Given the description of an element on the screen output the (x, y) to click on. 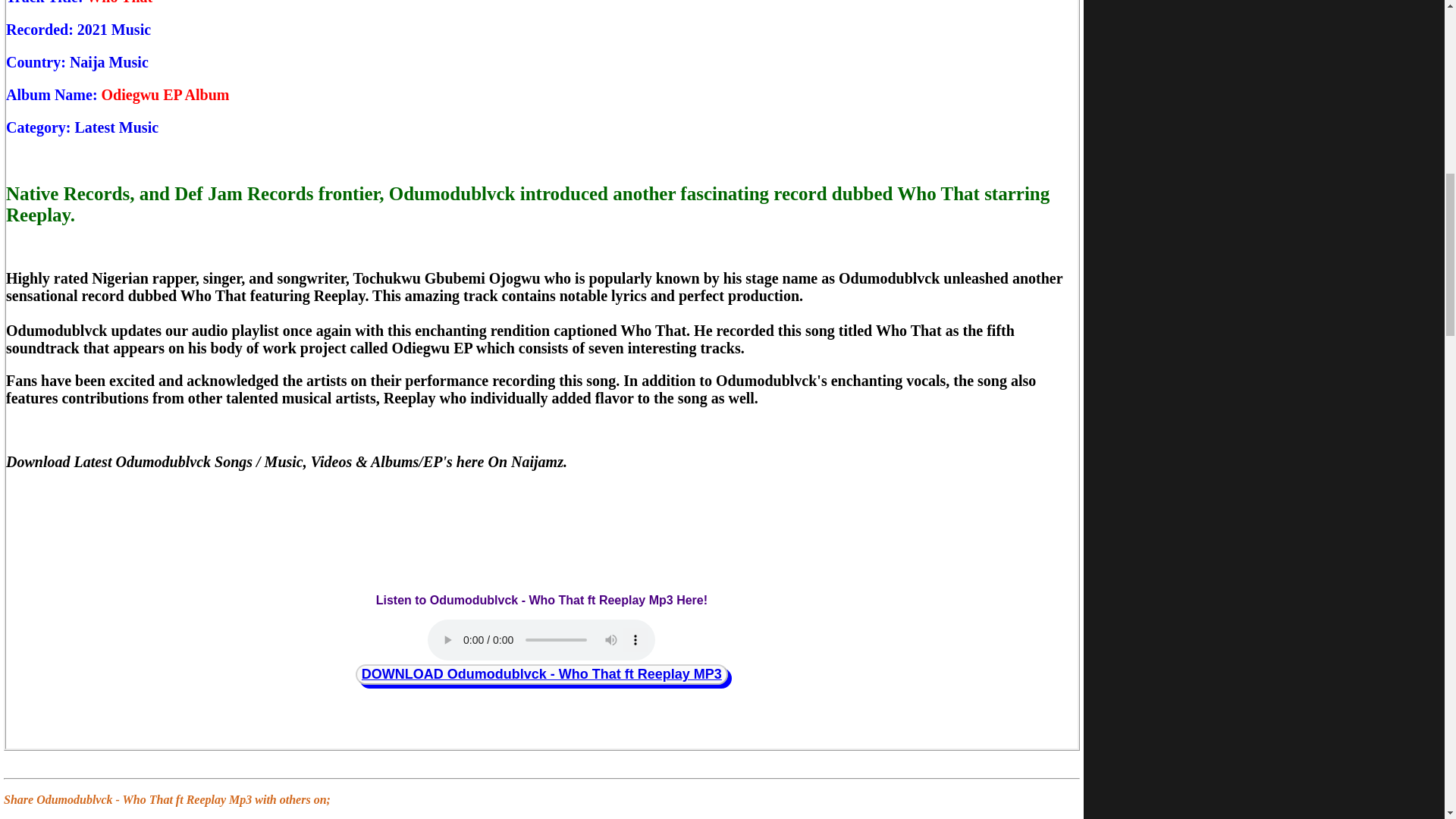
DOWNLOAD Odumodublvck - Who That ft Reeplay MP3 (541, 673)
Naija Music (108, 62)
DOWNLOAD Odumodublvck - Who That ft Reeplay MP3 (541, 674)
Odiegwu EP Album (165, 94)
Latest Music (116, 126)
2021 Music (114, 29)
